Given the description of an element on the screen output the (x, y) to click on. 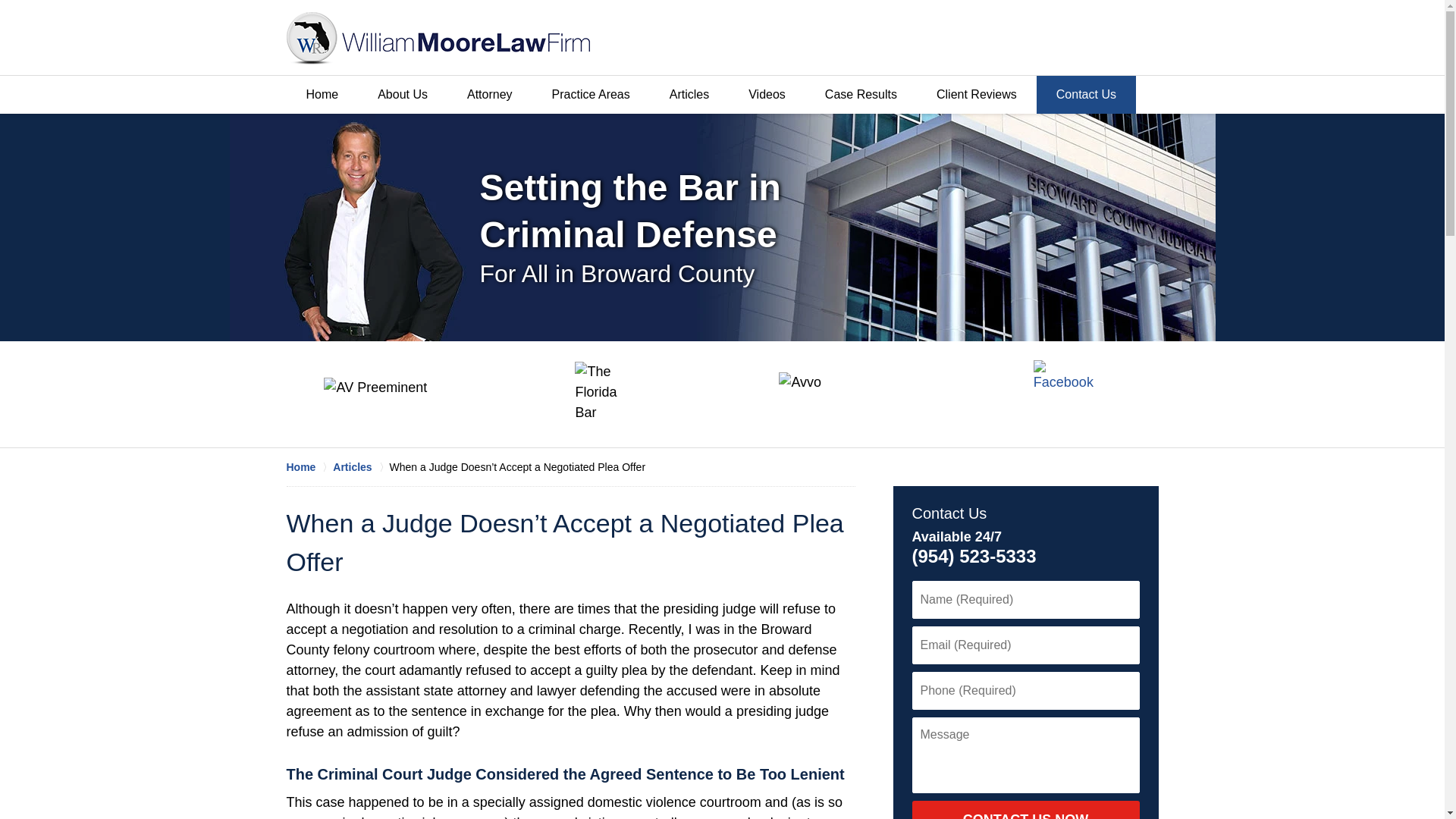
William Moore Law Firm Home (437, 38)
Home (322, 94)
Articles (360, 467)
Videos (767, 94)
Contact Us (1085, 94)
Back to Home (437, 38)
Contact Us (949, 513)
Contact William Moore Law Firm (1031, 38)
Home (309, 467)
Practice Areas (590, 94)
